Given the description of an element on the screen output the (x, y) to click on. 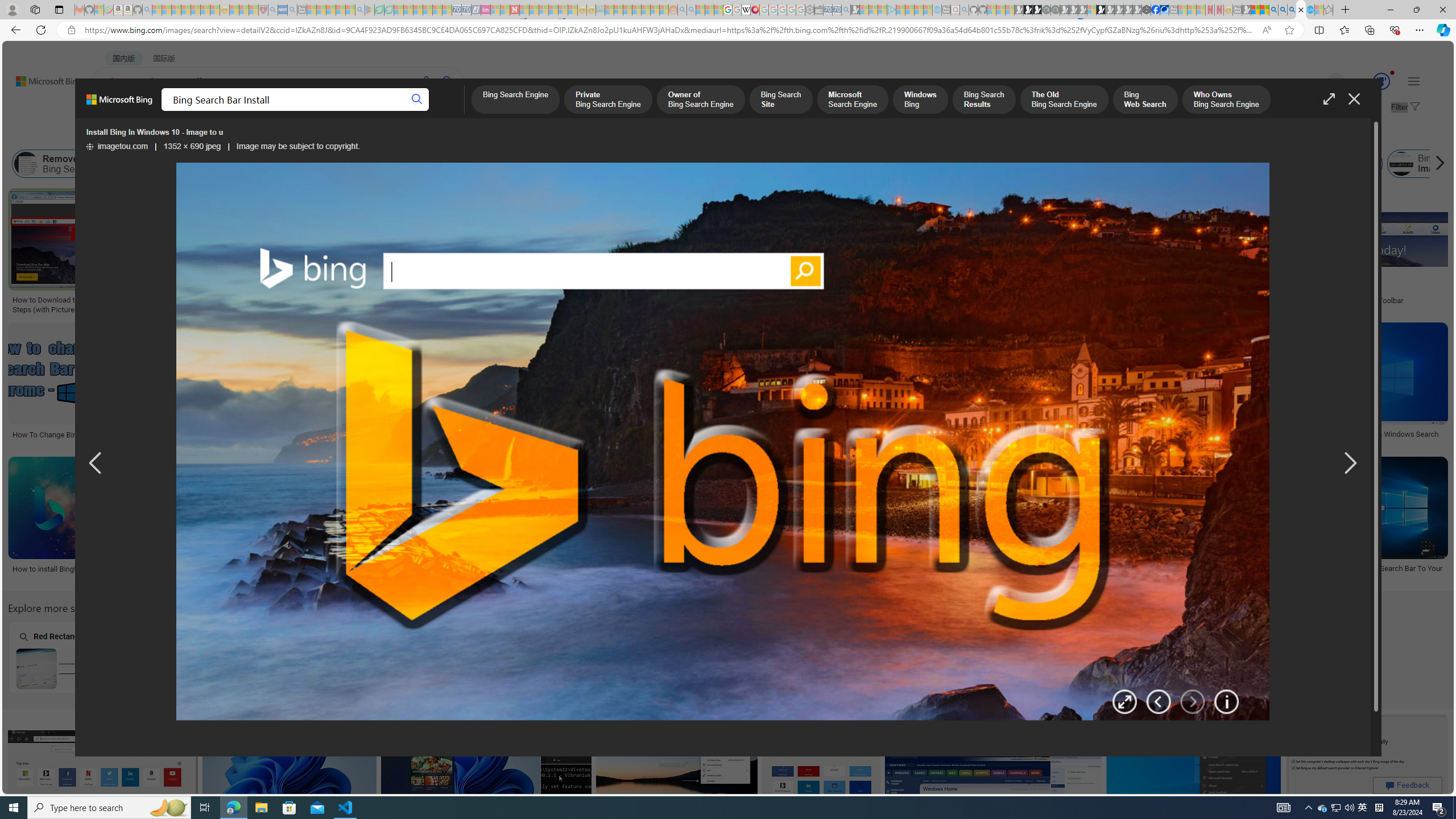
Bing Bar Toolbar (1047, 163)
Owner of Bing Search Engine (700, 100)
Search button (417, 99)
Microsoft Rewards 84 (1370, 81)
